Given the description of an element on the screen output the (x, y) to click on. 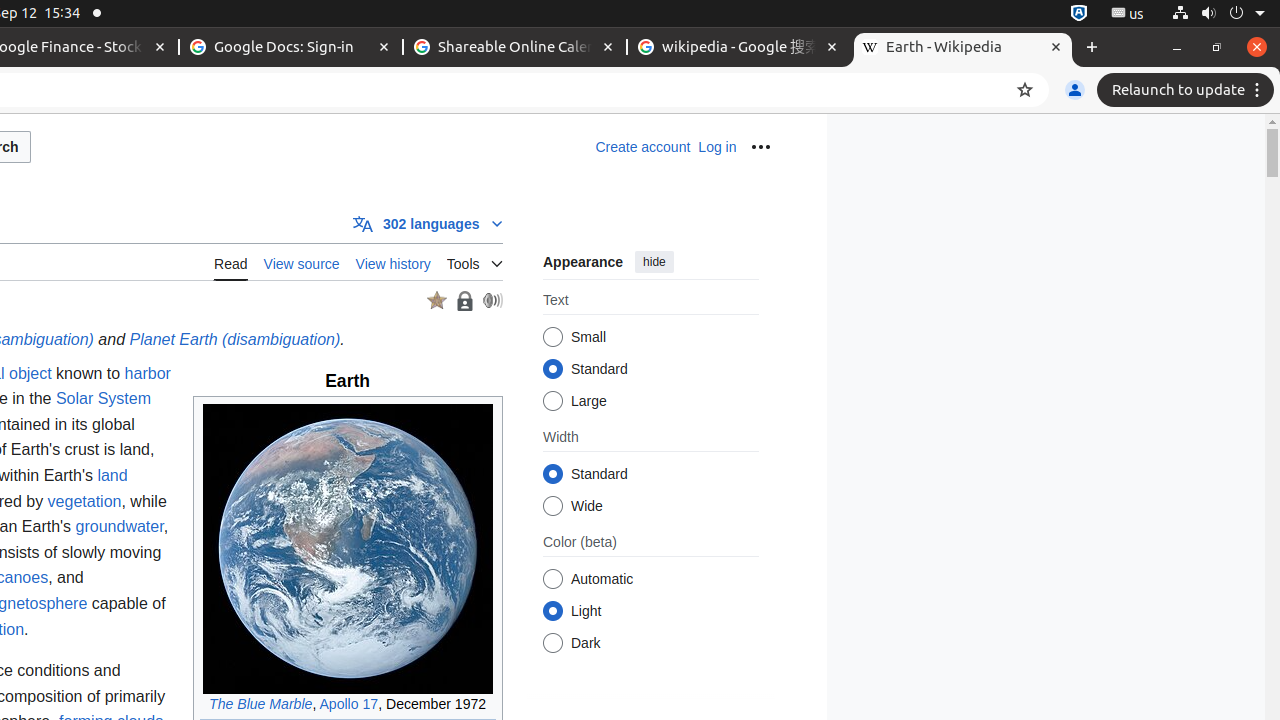
Photograph of Earth taken by the Apollo 17 mission. The Arabian peninsula, Africa and Madagascar lie in the upper half of the disc, whereas Antarctica is at the bottom. The Blue Marble, Apollo 17, December 1972 Element type: table-cell (347, 559)
Listen to this article Element type: link (492, 300)
Go to an article in another language. Available in 302 languages Element type: push-button (428, 223)
groundwater Element type: link (119, 527)
Read Element type: link (231, 262)
